Given the description of an element on the screen output the (x, y) to click on. 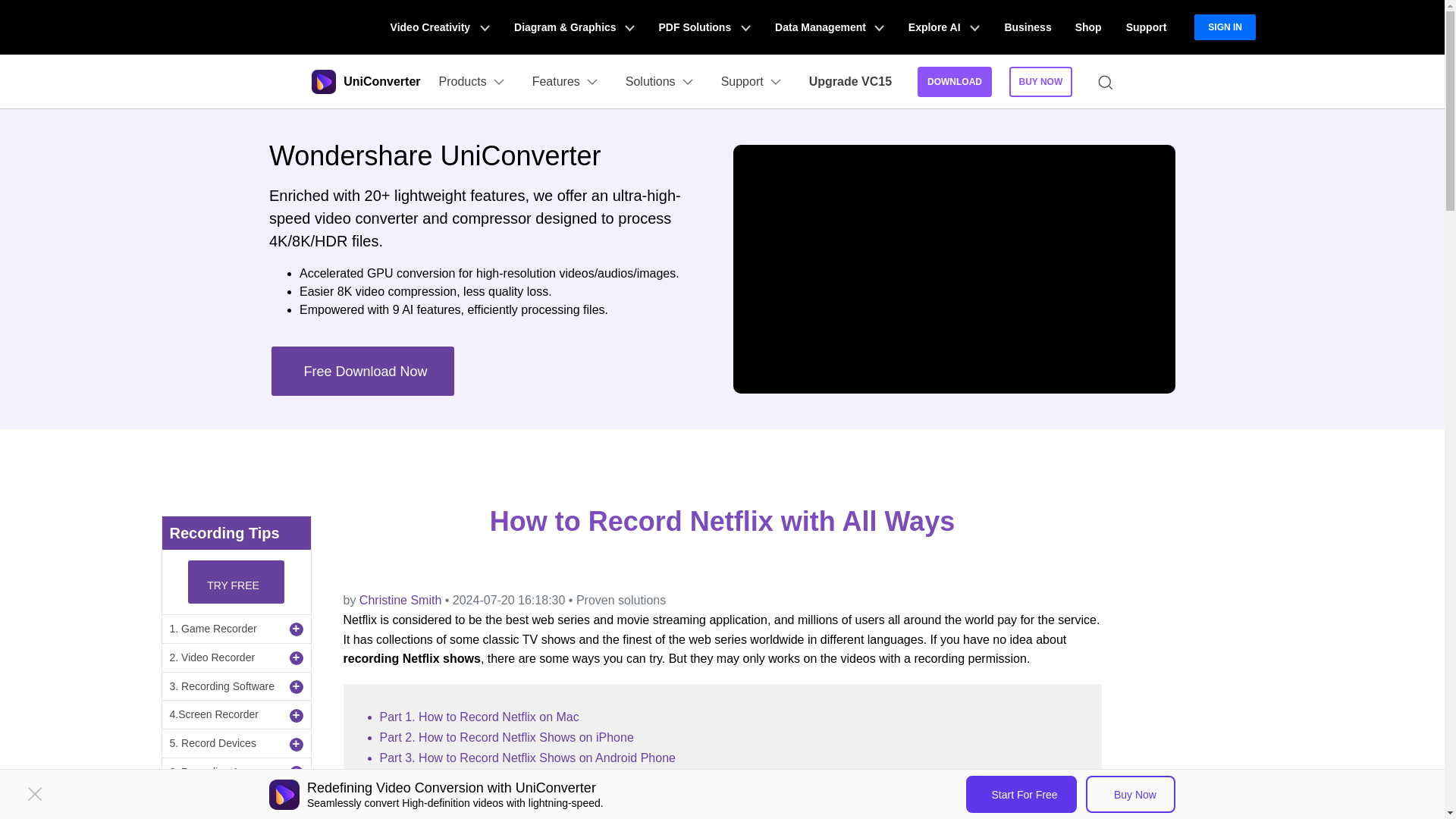
Video Creativity (439, 27)
Explore AI (943, 27)
PDF Solutions (704, 27)
Data Management (829, 27)
